Given the description of an element on the screen output the (x, y) to click on. 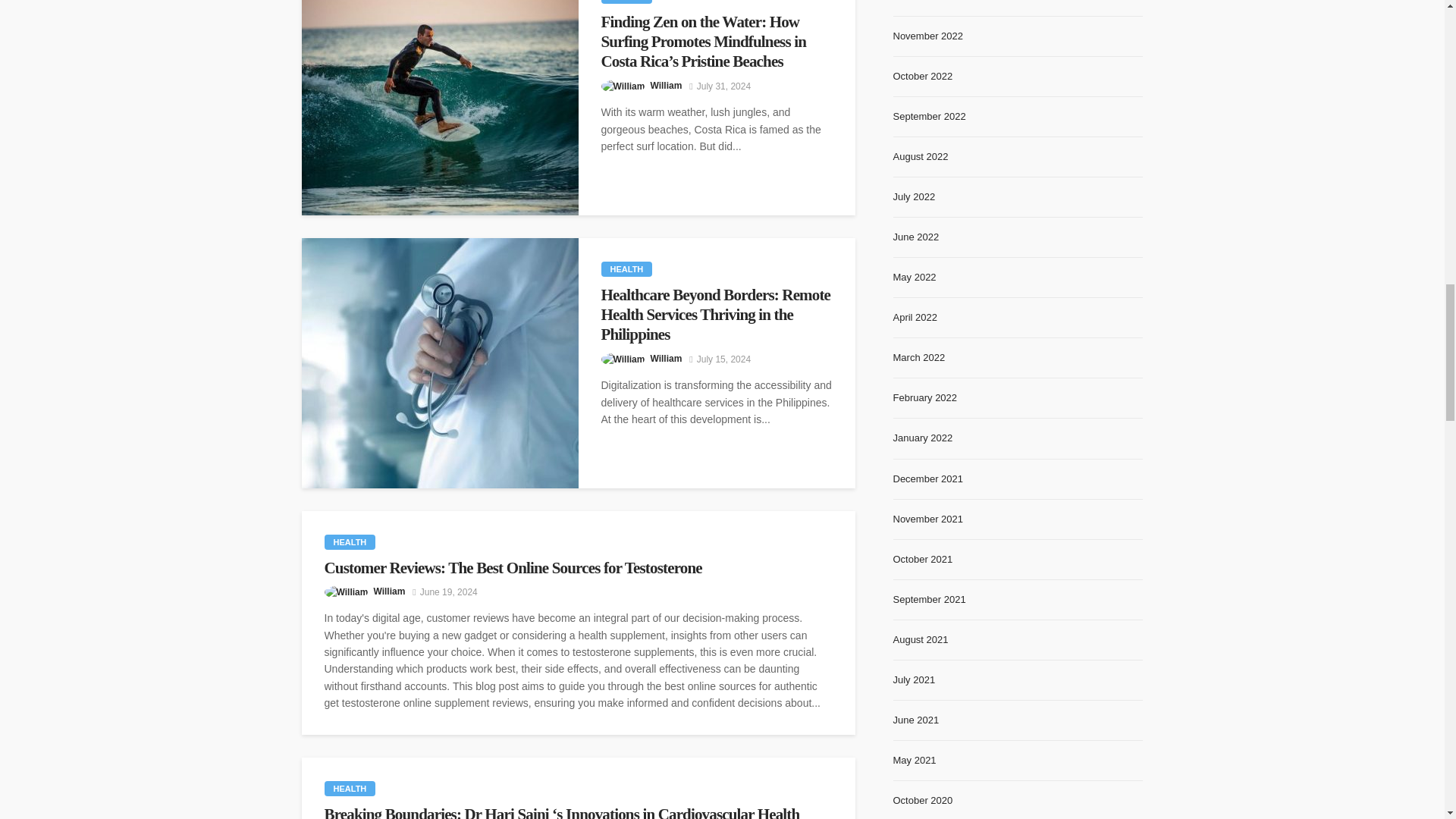
Health (625, 268)
Health (625, 2)
Health (349, 788)
HEALTH (625, 2)
Customer Reviews: The Best Online Sources for Testosterone (578, 567)
Health (349, 541)
